Given the description of an element on the screen output the (x, y) to click on. 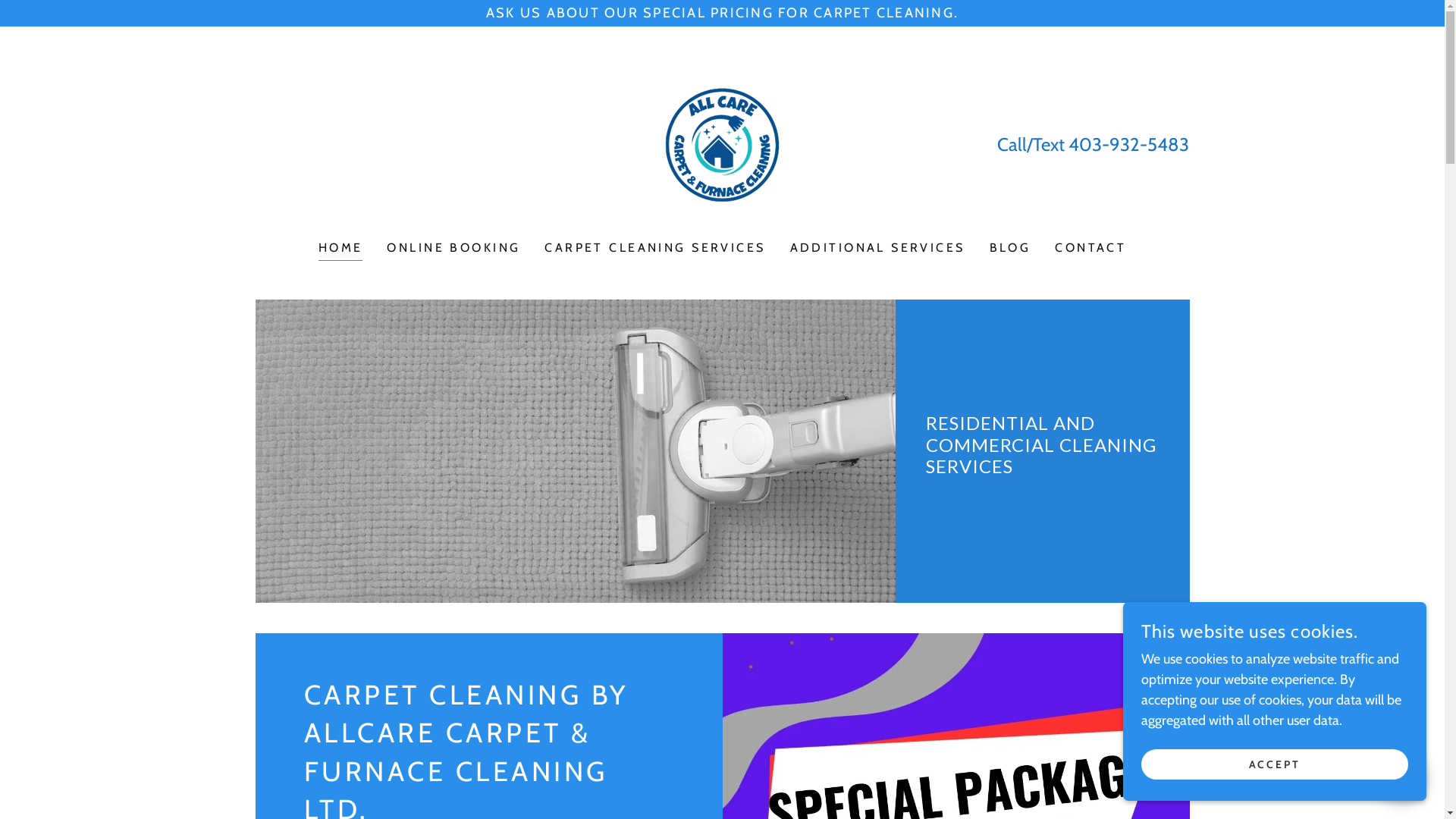
ACCEPT Element type: text (1274, 764)
HOME Element type: text (340, 249)
All Care Cleaning Element type: hover (721, 142)
ADDITIONAL SERVICES Element type: text (877, 247)
CARPET CLEANING SERVICES Element type: text (654, 247)
BLOG Element type: text (1010, 247)
ONLINE BOOKING Element type: text (453, 247)
403-932-5483 Element type: text (1128, 144)
CONTACT Element type: text (1090, 247)
